Given the description of an element on the screen output the (x, y) to click on. 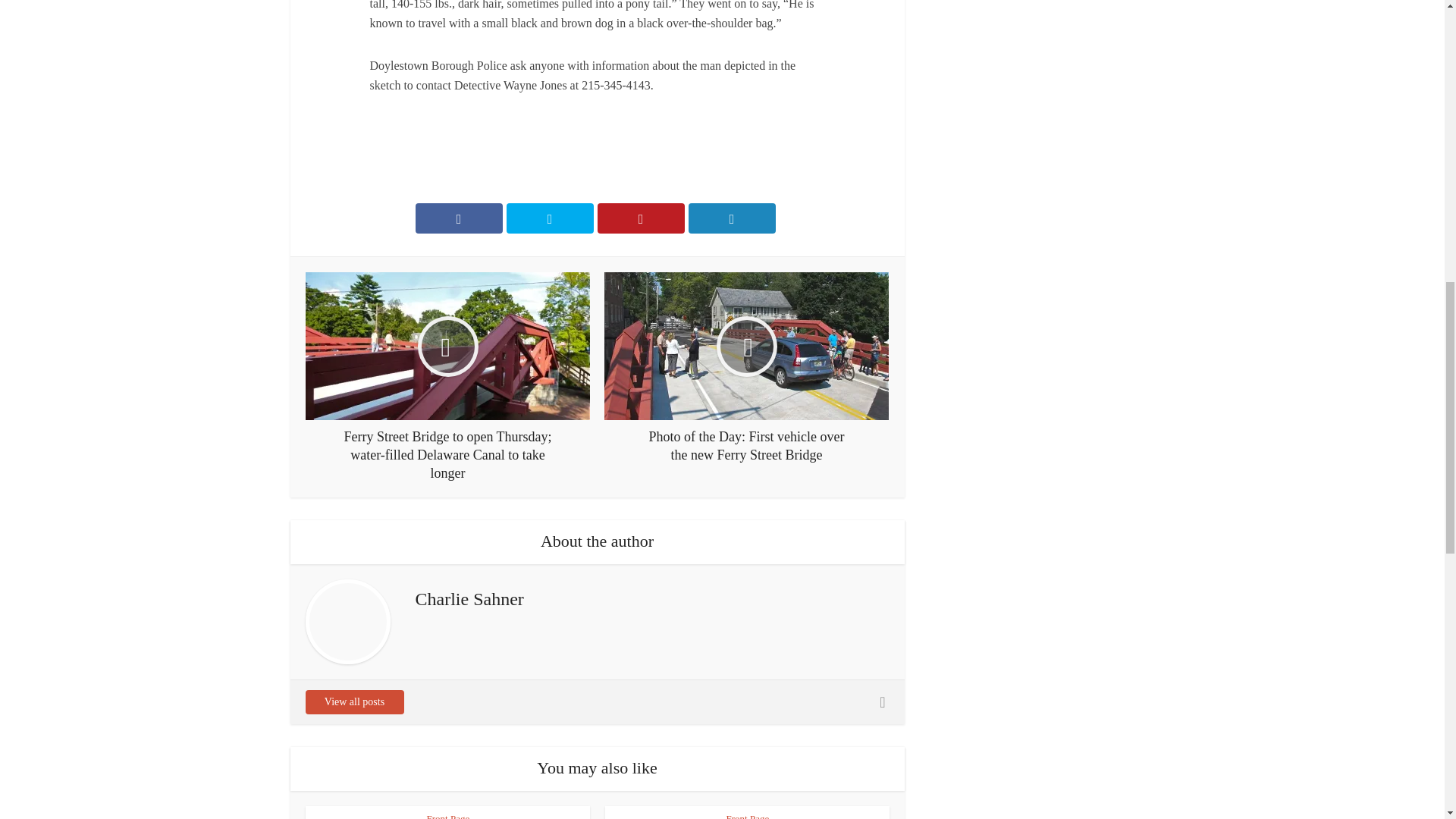
Front Page (447, 816)
View all posts (353, 702)
Front Page (748, 816)
